Given the description of an element on the screen output the (x, y) to click on. 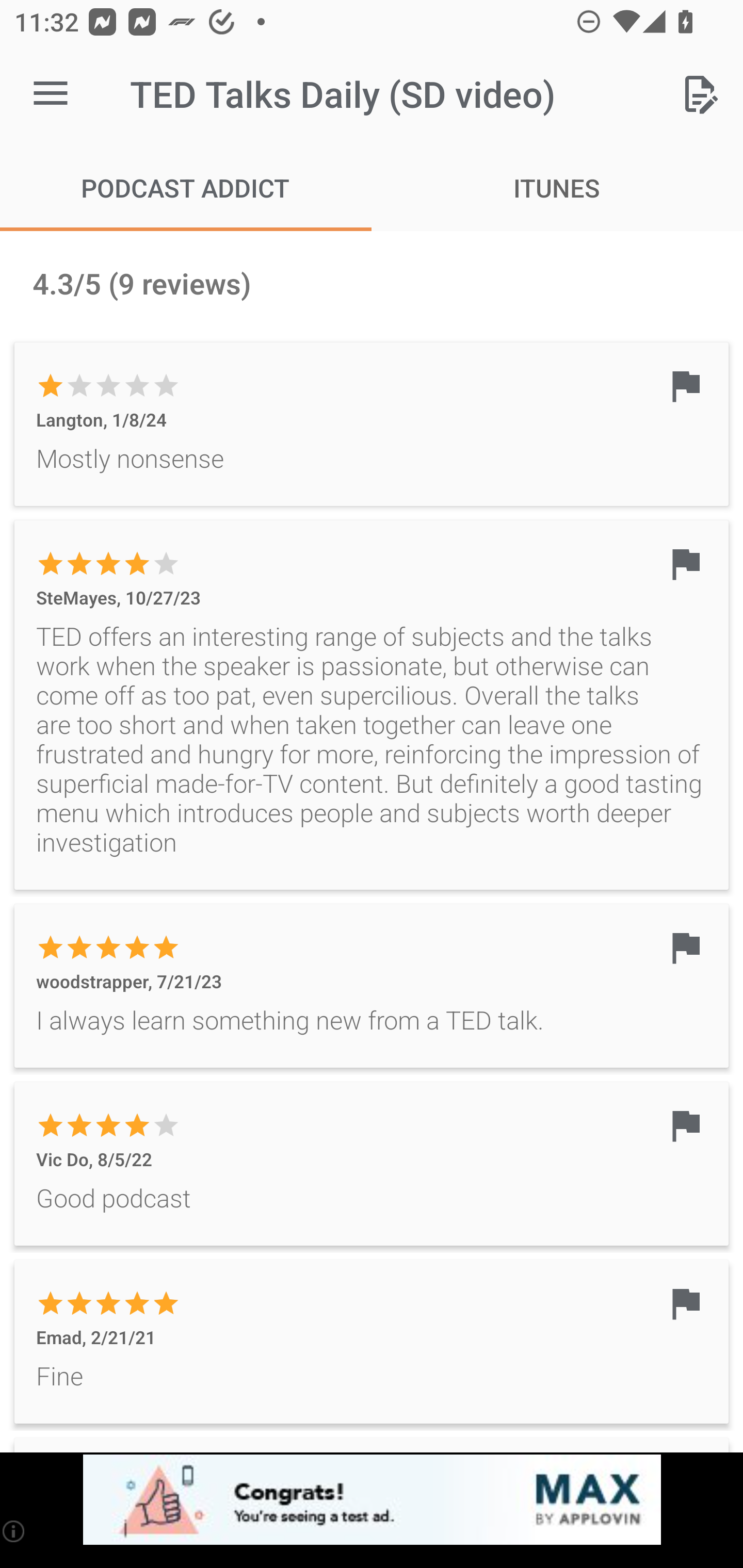
Open navigation sidebar (50, 93)
Rate this podcast (699, 93)
iTunes ITUNES (557, 187)
Flag as inappropriate (684, 385)
Flag as inappropriate (684, 563)
Flag as inappropriate (684, 947)
Flag as inappropriate (684, 1125)
Flag as inappropriate (684, 1302)
app-monetization (371, 1500)
(i) (14, 1531)
